Given the description of an element on the screen output the (x, y) to click on. 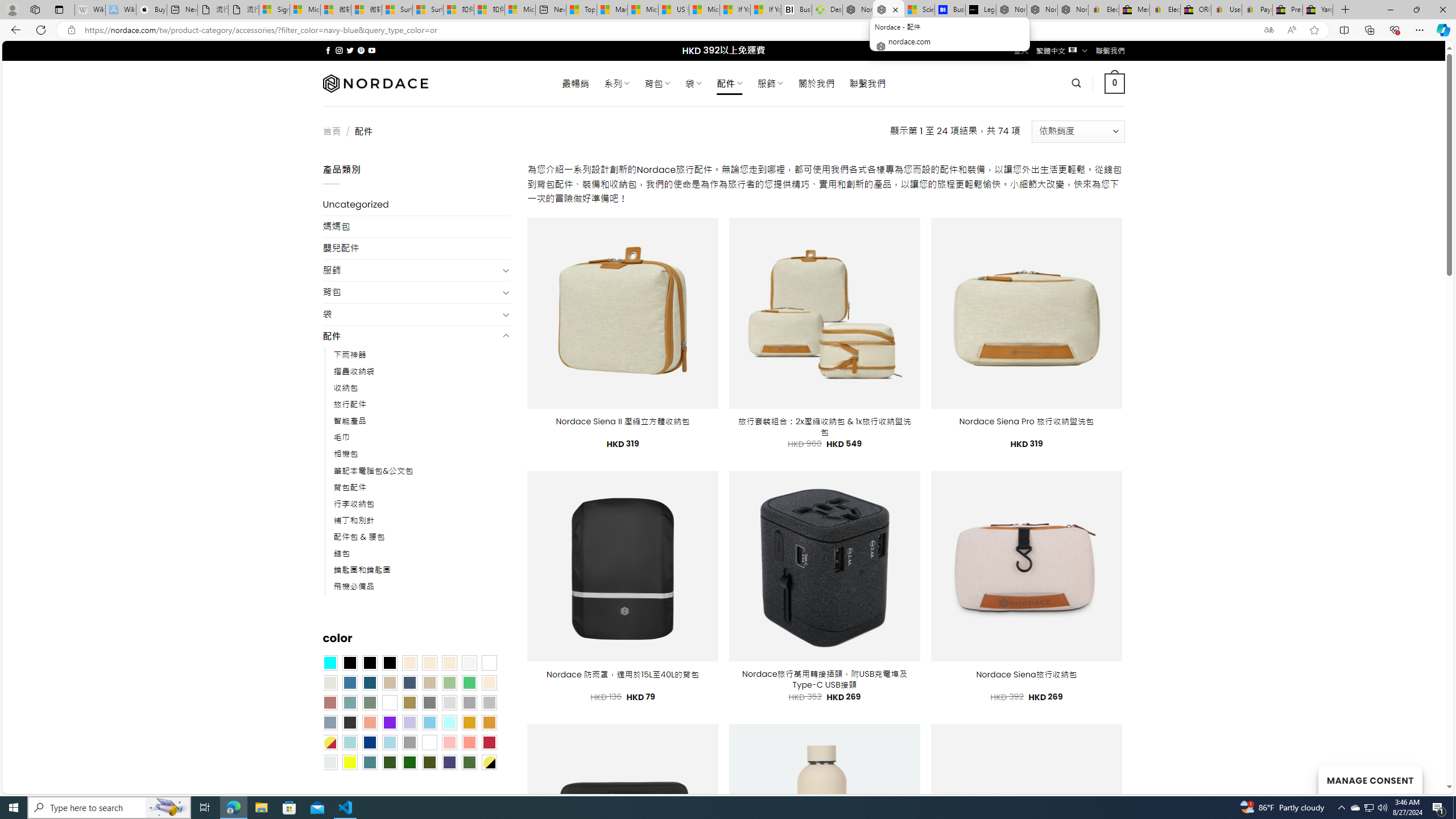
Follow on Pinterest (360, 50)
